Given the description of an element on the screen output the (x, y) to click on. 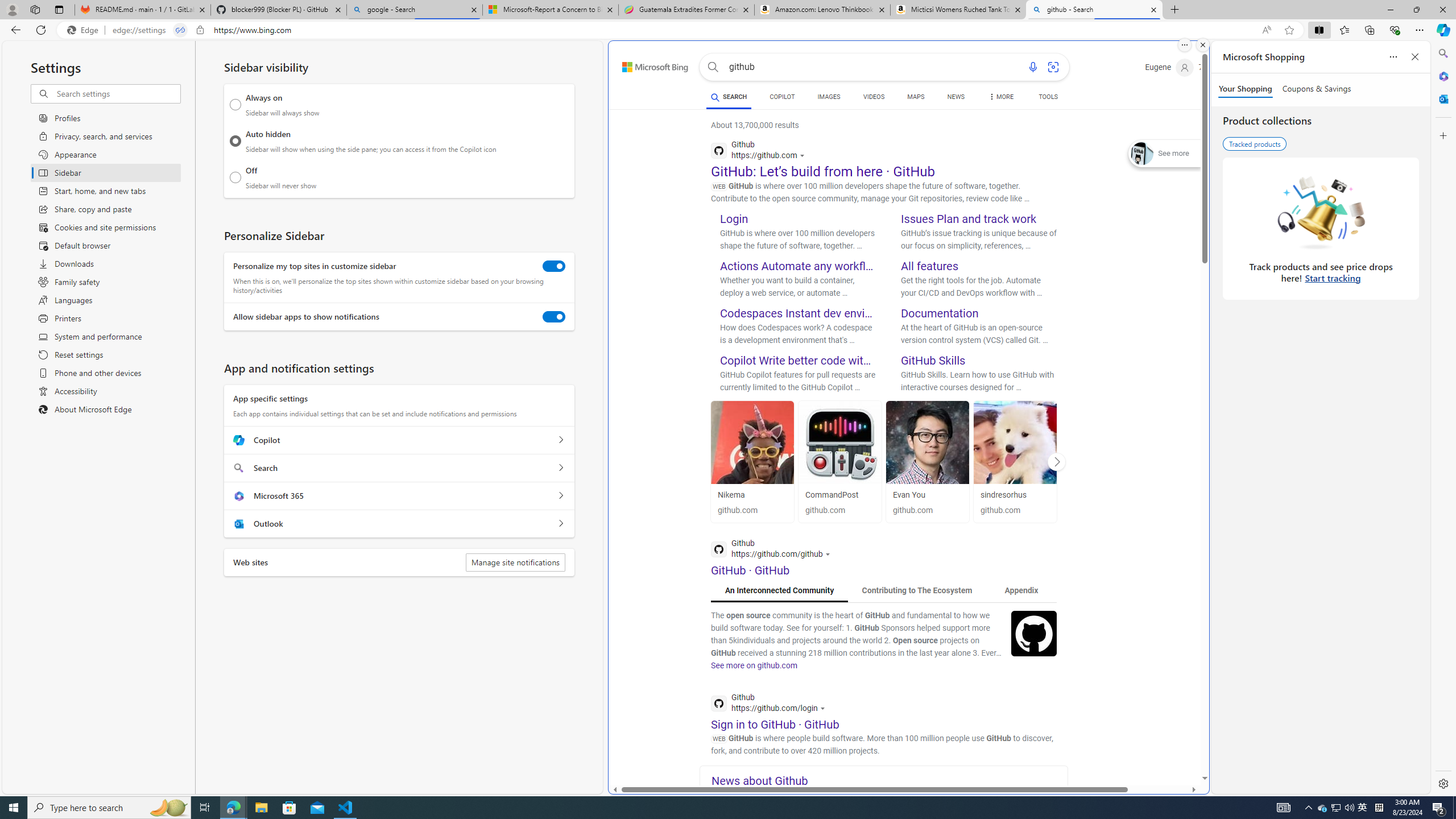
AutomationID: mfa_root (1161, 743)
Microsoft Rewards 75 (1214, 67)
Always on Sidebar will always show (235, 104)
MAPS (915, 98)
bing.com/news (889, 793)
NEWS (955, 96)
sindresorhus (1015, 442)
Off Sidebar will never show (235, 177)
